Given the description of an element on the screen output the (x, y) to click on. 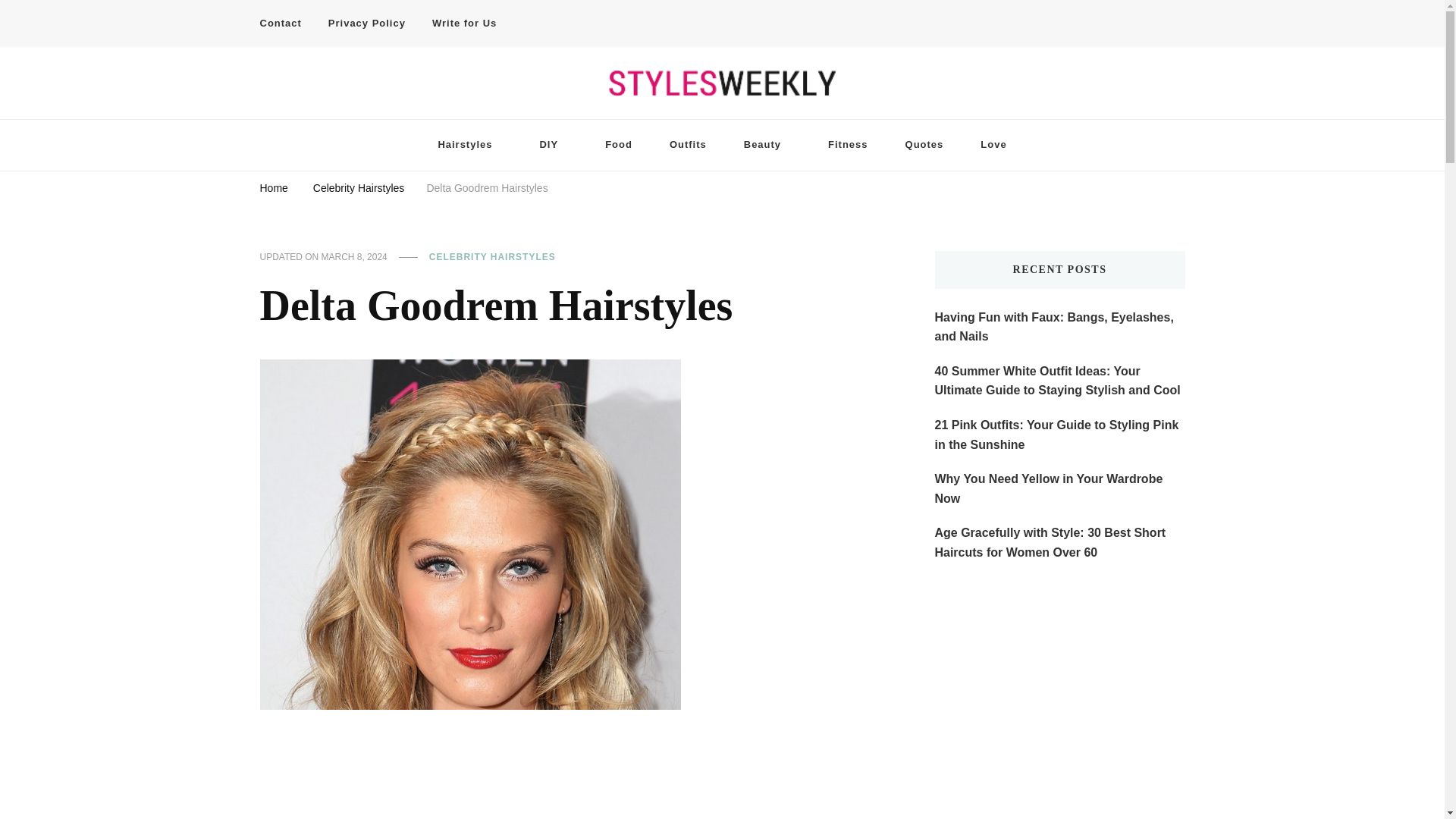
DIY (553, 144)
Styles Weekly (326, 110)
Outfits (687, 144)
Privacy Policy (366, 23)
Quotes (924, 144)
Love (993, 144)
Beauty (767, 144)
Search (1148, 27)
Celebrity Hairstyles (358, 189)
CELEBRITY HAIRSTYLES (492, 257)
